Given the description of an element on the screen output the (x, y) to click on. 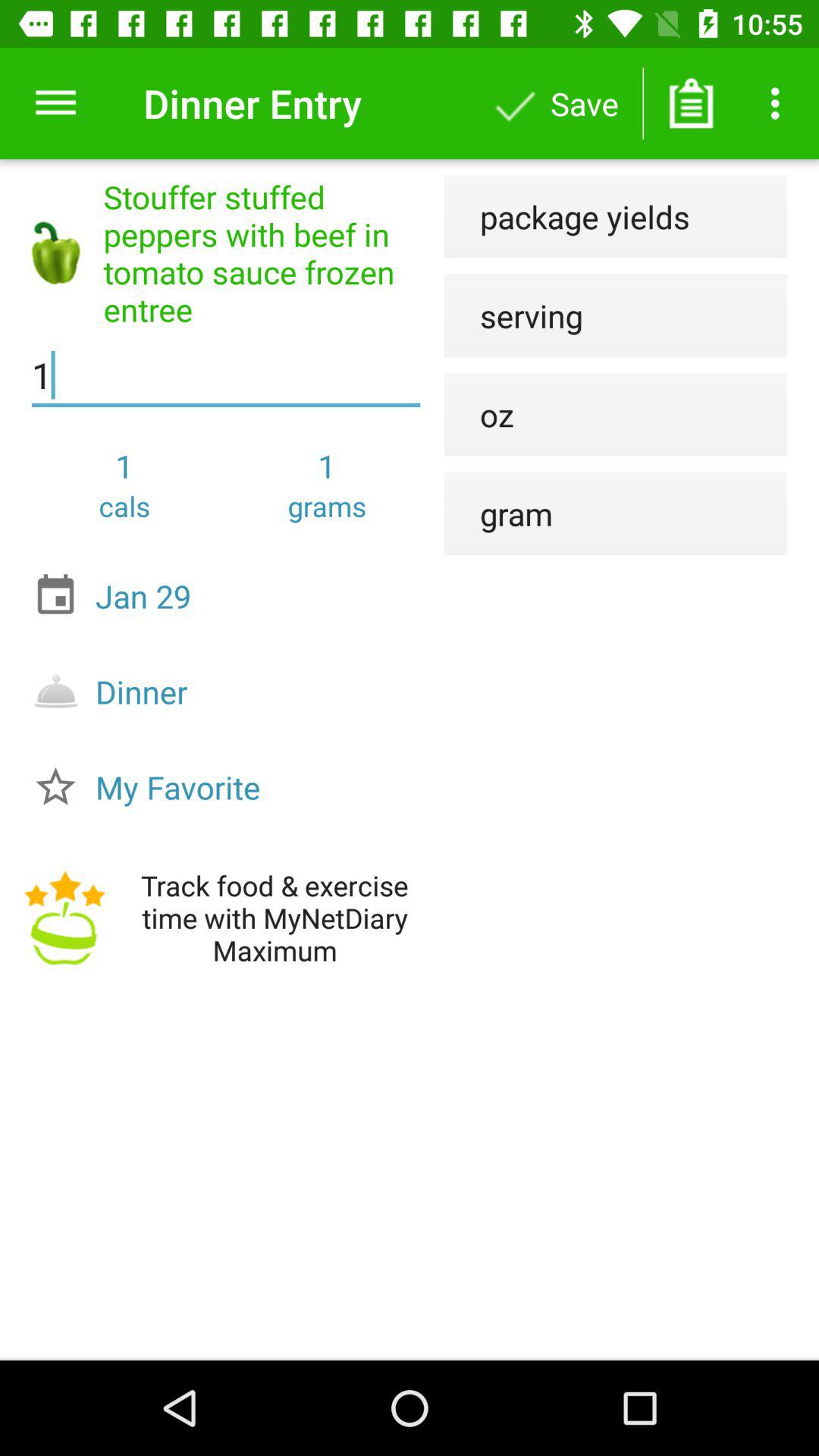
click item to the right of 1 (479, 414)
